Given the description of an element on the screen output the (x, y) to click on. 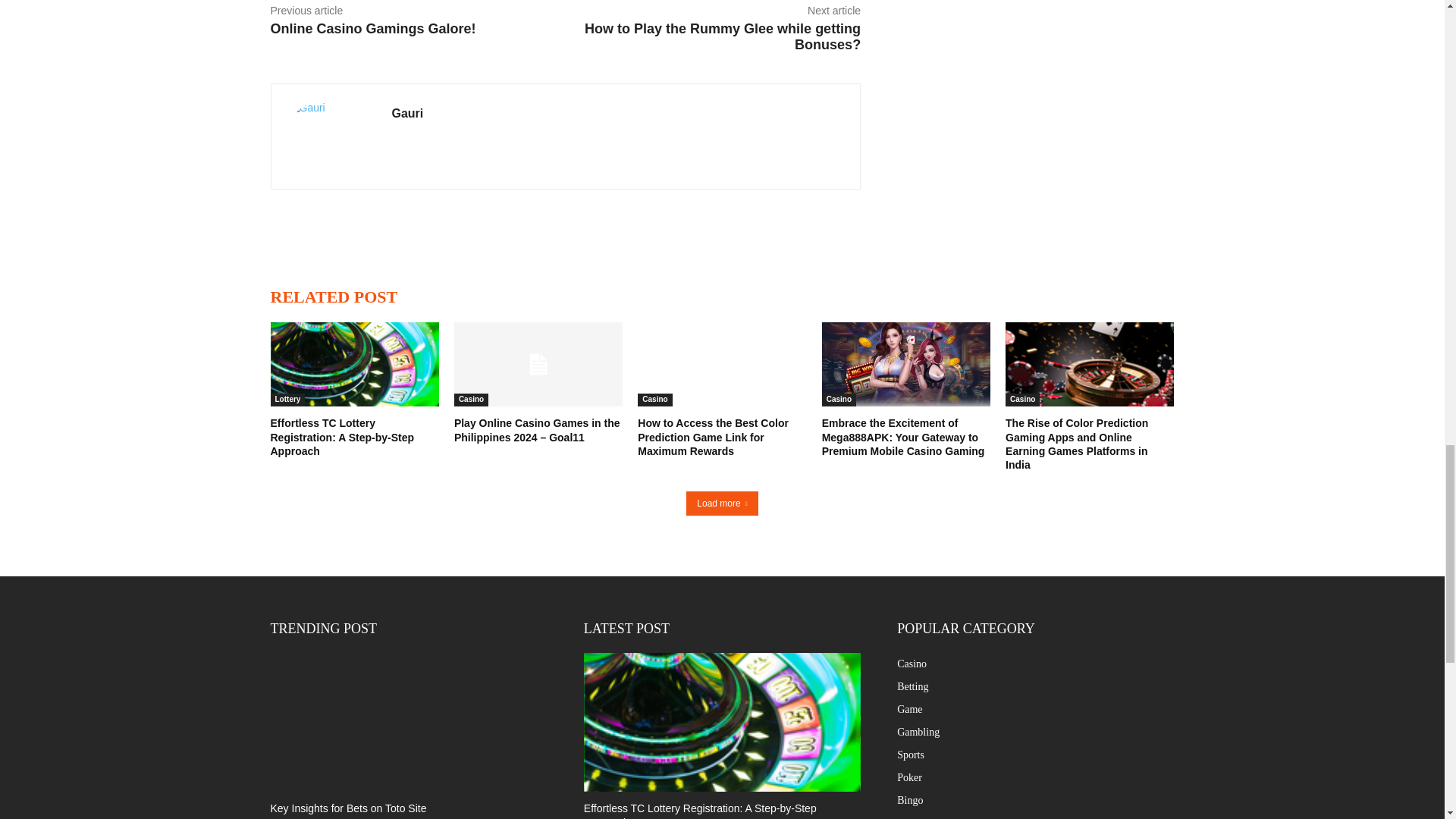
Gauri (330, 135)
